Given the description of an element on the screen output the (x, y) to click on. 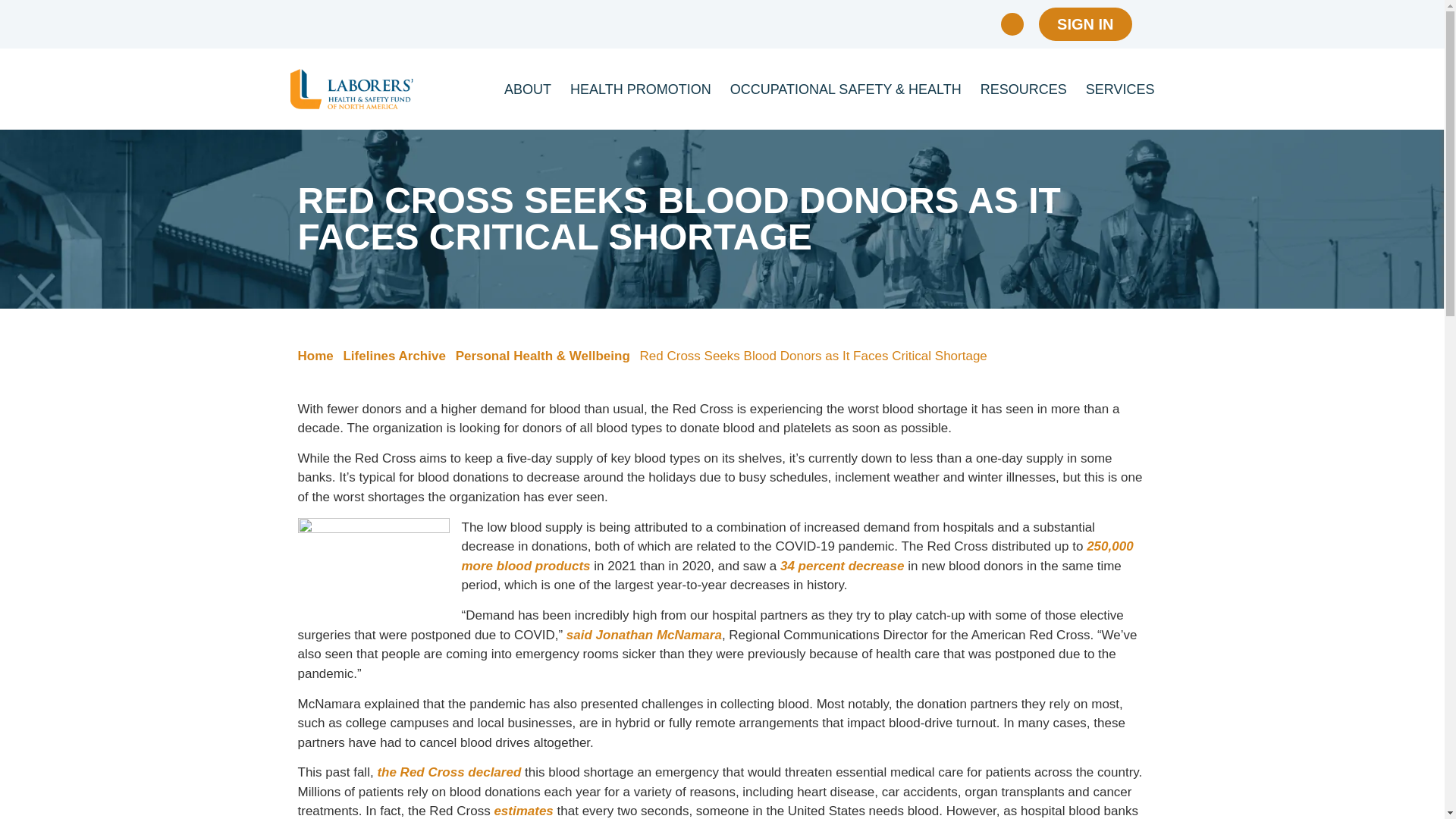
HEALTH PROMOTION (640, 88)
Lifelines Archive (393, 355)
said Jonathan McNamara (644, 635)
250,000 more blood products (796, 555)
SIGN IN (1085, 23)
RESOURCES (1023, 88)
Home (315, 355)
34 percent decrease (842, 565)
ABOUT (527, 88)
the Red Cross declared (449, 771)
